Given the description of an element on the screen output the (x, y) to click on. 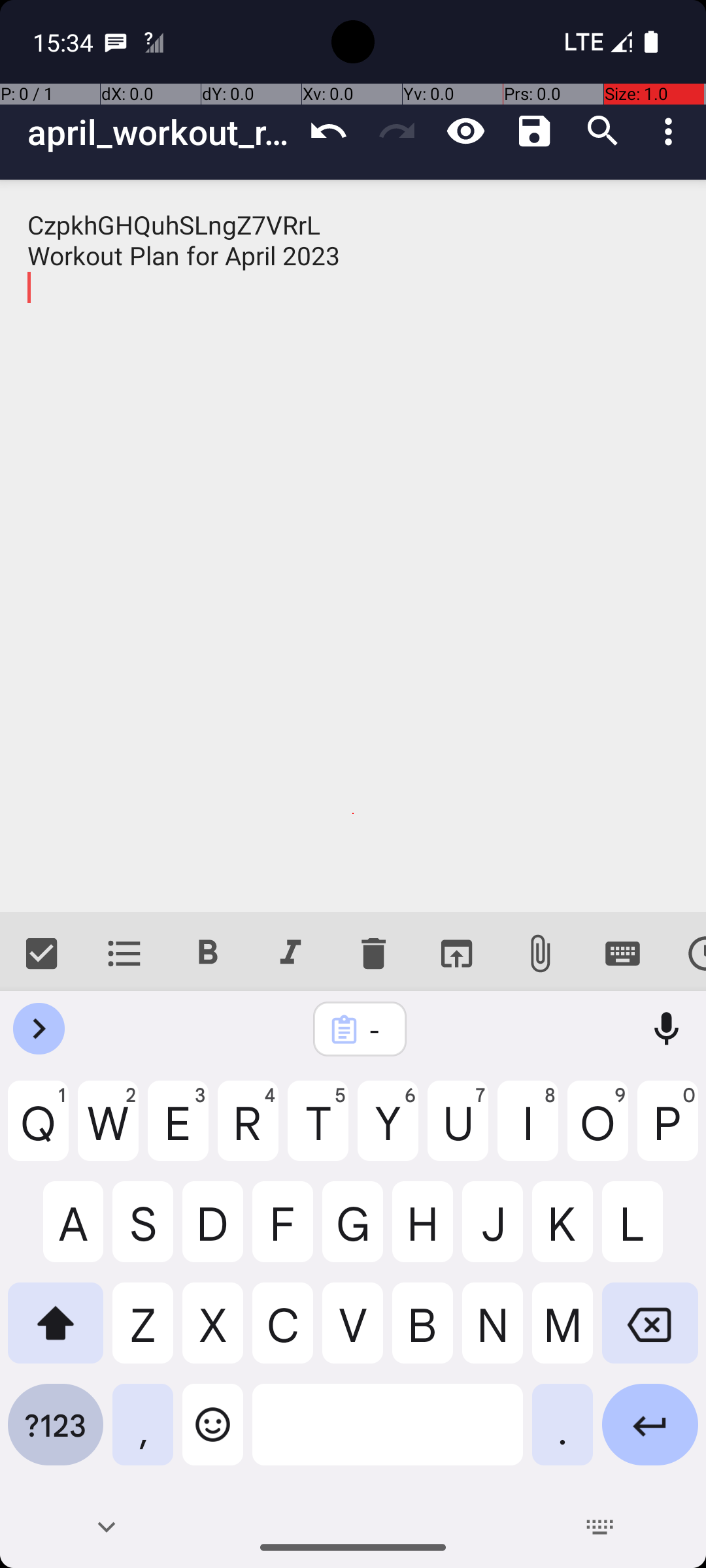
april_workout_routine_2023_01_01 Element type: android.widget.TextView (160, 131)
CzpkhGHQuhSLngZ7VRrL
Workout Plan for April 2023
 Element type: android.widget.EditText (353, 545)
-  Element type: android.widget.TextView (376, 1029)
